Given the description of an element on the screen output the (x, y) to click on. 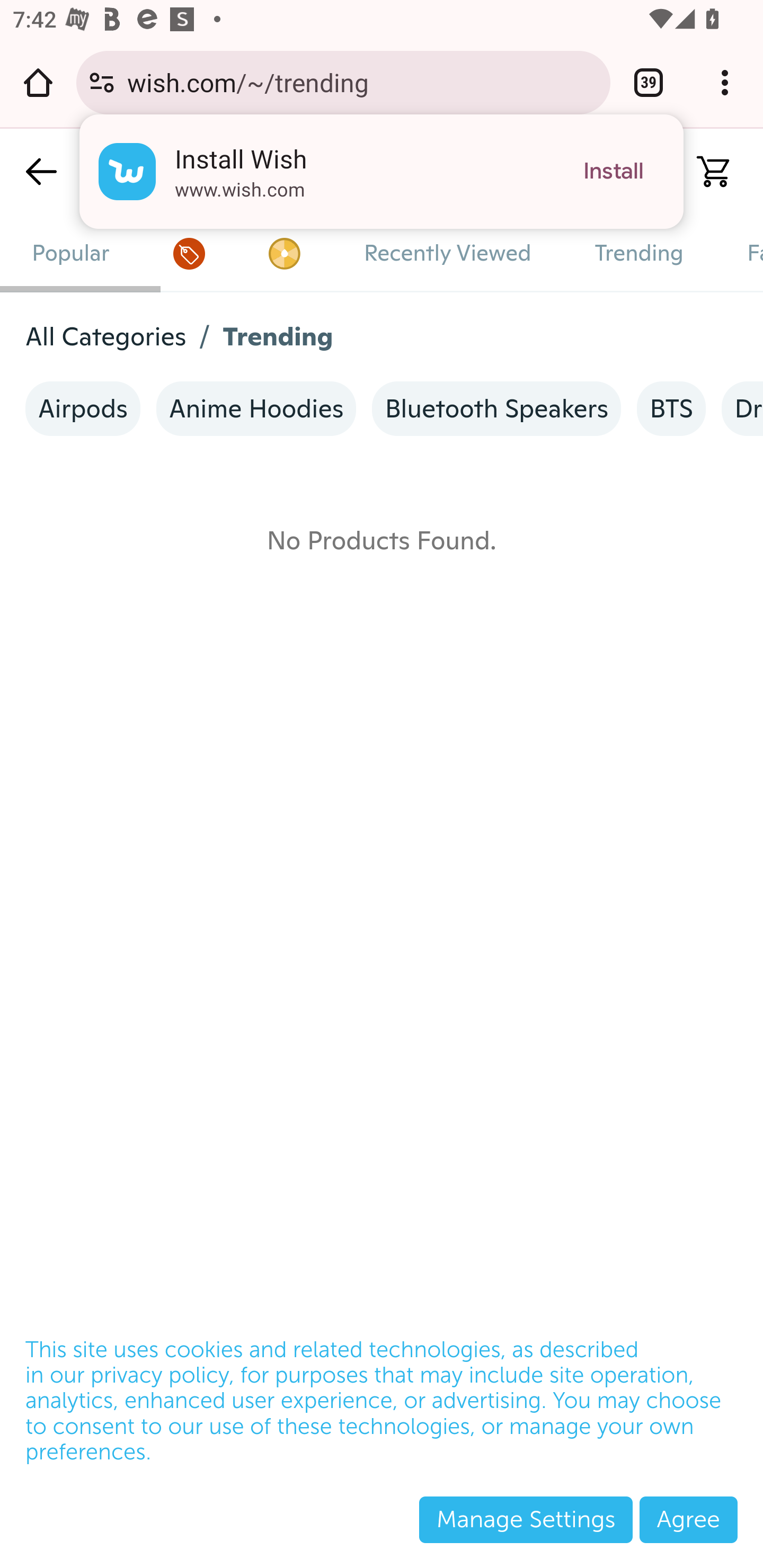
Open the home page (38, 82)
Connection is secure (101, 82)
Switch or close tabs (648, 82)
Customize and control Google Chrome (724, 82)
wish.com/~/trending (362, 82)
Back (41, 171)
Log in (629, 171)
Shopping Cart: 0 items (705, 171)
Deals Hub (188, 252)
blitz_buy__tab (283, 252)
Popular (70, 252)
Recently Viewed (447, 252)
Trending (638, 252)
All Categories (106, 336)
Airpods (83, 409)
Anime Hoodies (256, 409)
Bluetooth Speakers (496, 409)
BTS (671, 409)
Manage Settings (526, 1518)
Agree (688, 1518)
